Given the description of an element on the screen output the (x, y) to click on. 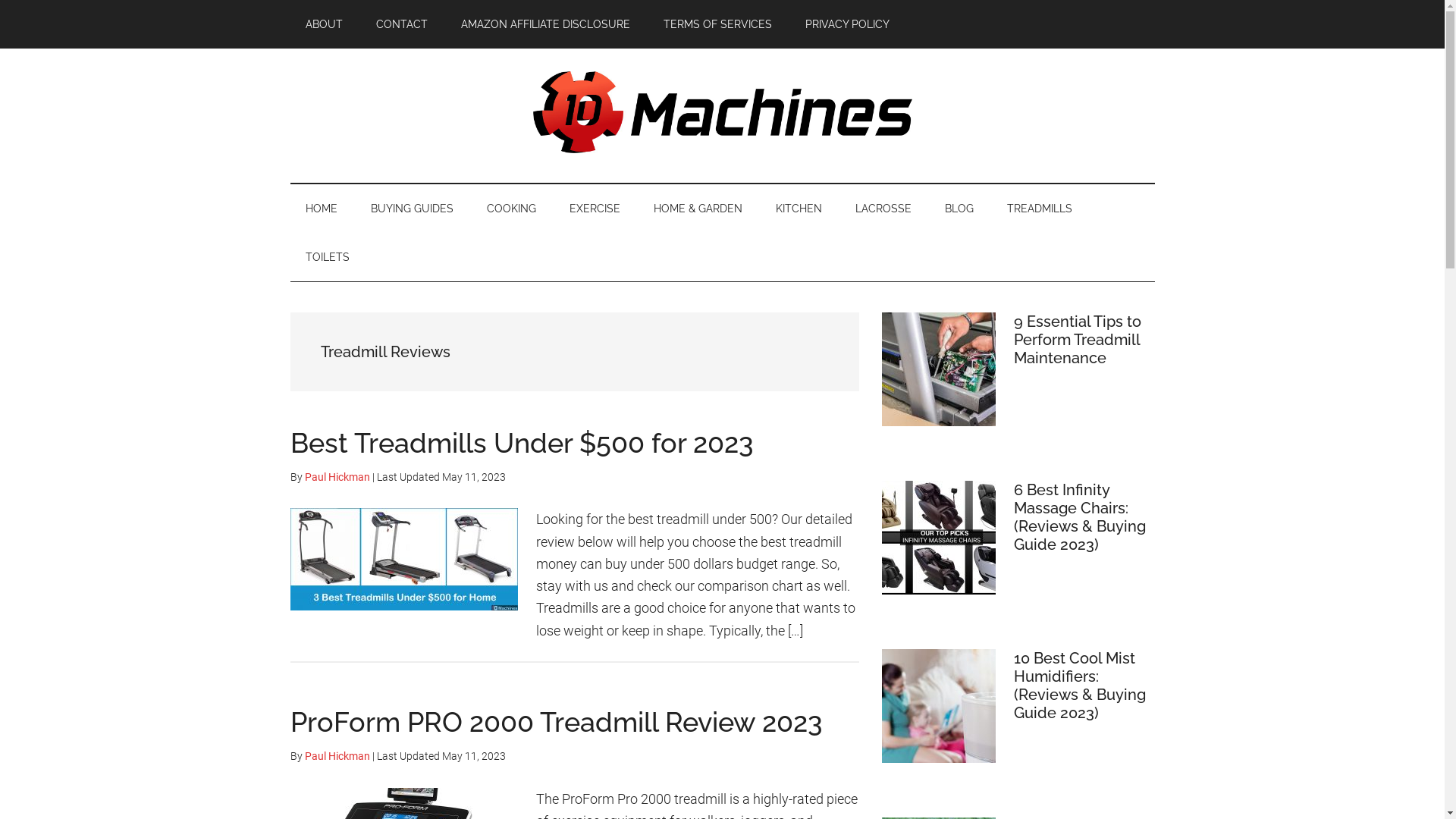
10 Best Cool Mist Humidifiers: (Reviews & Buying Guide 2023) Element type: text (1079, 685)
Skip to main content Element type: text (0, 0)
HOME Element type: text (320, 208)
AMAZON AFFILIATE DISCLOSURE Element type: text (545, 24)
TERMS OF SERVICES Element type: text (716, 24)
ProForm PRO 2000 Treadmill Review 2023 Element type: text (555, 721)
Best Treadmills Under $500 for 2023 Element type: text (520, 442)
KITCHEN Element type: text (797, 208)
Paul Hickman Element type: text (337, 755)
EXERCISE Element type: text (593, 208)
LACROSSE Element type: text (883, 208)
COOKING Element type: text (511, 208)
TREADMILLS Element type: text (1039, 208)
CONTACT Element type: text (401, 24)
BLOG Element type: text (958, 208)
HOME & GARDEN Element type: text (697, 208)
BUYING GUIDES Element type: text (410, 208)
9 Essential Tips to Perform Treadmill Maintenance Element type: text (1076, 339)
TOILETS Element type: text (326, 256)
PRIVACY POLICY Element type: text (847, 24)
ABOUT Element type: text (323, 24)
Paul Hickman Element type: text (337, 476)
